Given the description of an element on the screen output the (x, y) to click on. 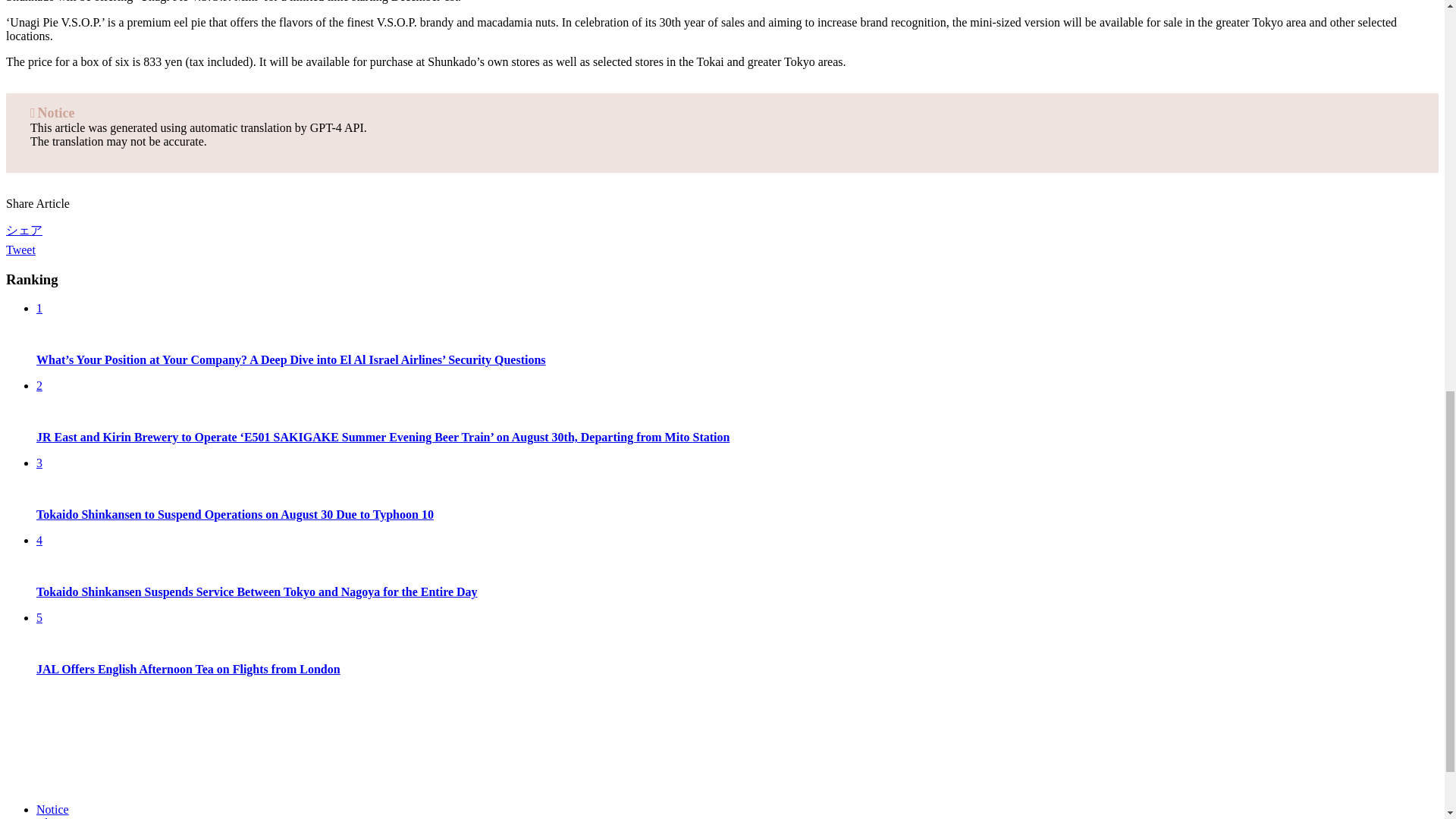
Tweet (19, 249)
